Given the description of an element on the screen output the (x, y) to click on. 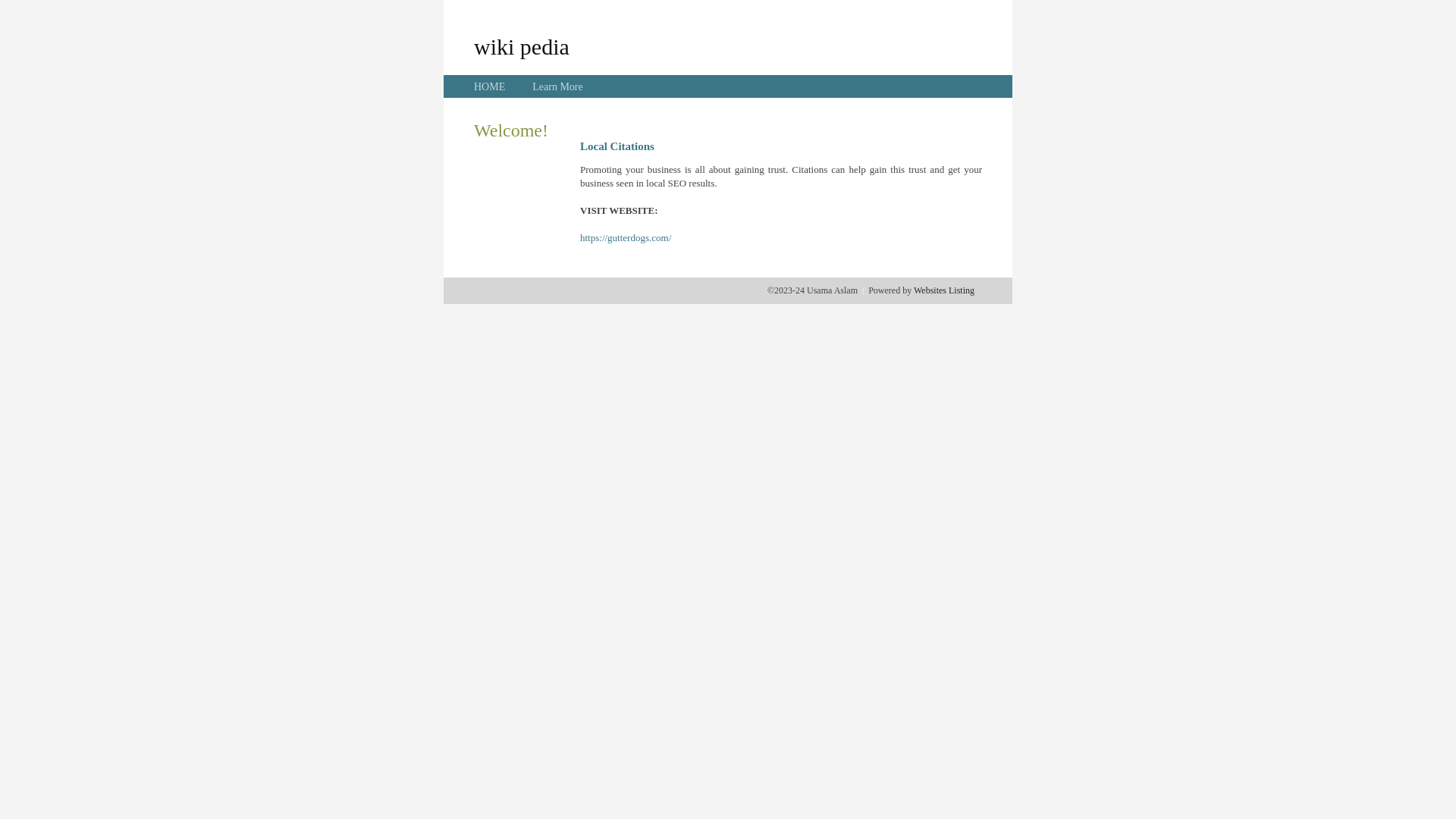
https://gutterdogs.com/ Element type: text (625, 237)
HOME Element type: text (489, 86)
wiki pedia Element type: text (521, 46)
Websites Listing Element type: text (943, 290)
Learn More Element type: text (557, 86)
